Given the description of an element on the screen output the (x, y) to click on. 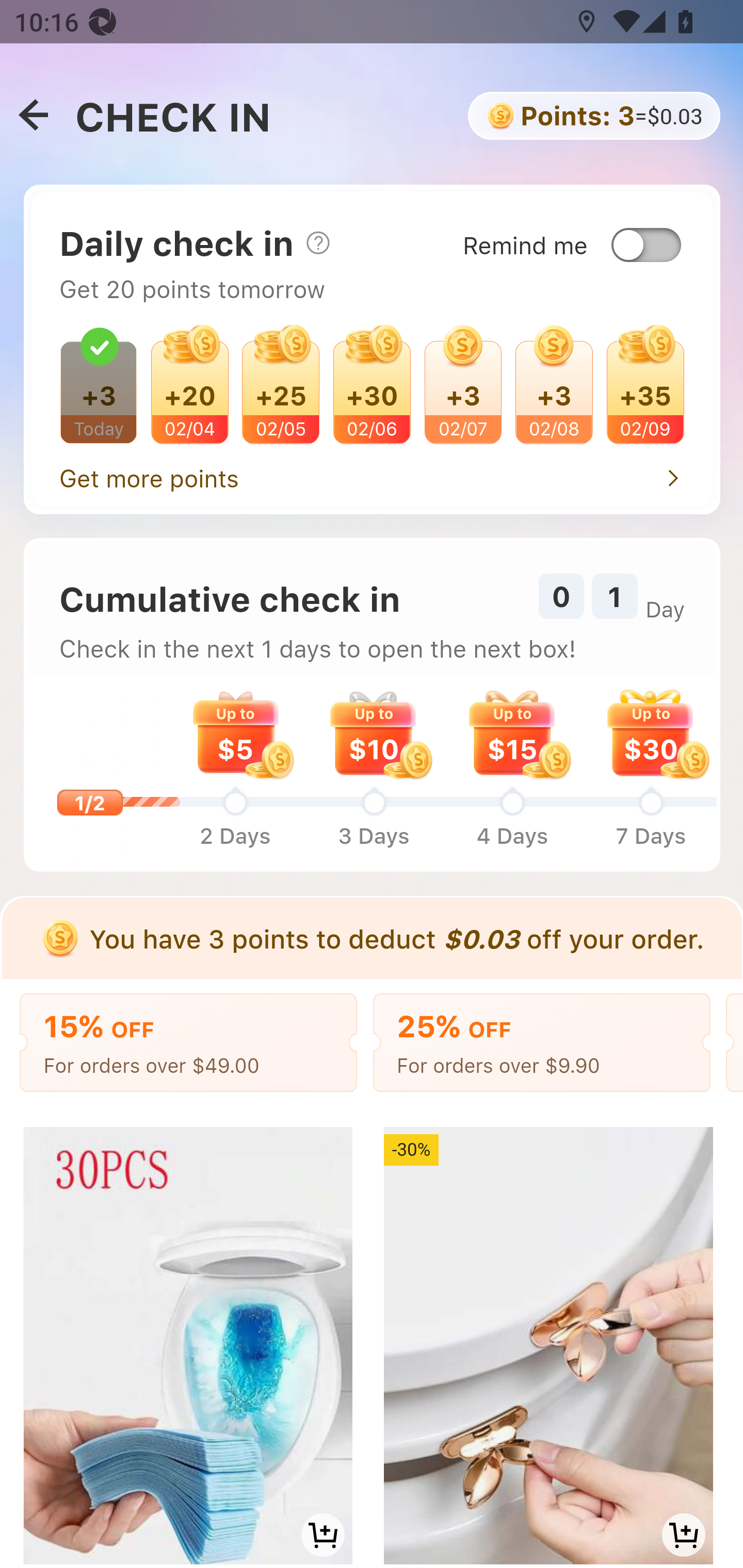
 (33, 115)
Points: 3=$0.03 (592, 115)
Remind me (587, 228)
 (317, 242)
+3 Today (98, 390)
+20 02/04 (188, 390)
+25 02/05 (281, 390)
+30 02/06 (371, 390)
+3 02/07 (462, 390)
+3 02/08 (553, 390)
+35 02/09 (644, 390)
Get more points  (371, 473)
Up to $5 2 Days (234, 771)
Up to $10 3 Days (373, 771)
Up to $15 4 Days (512, 771)
Up to $30 7 Days (650, 771)
Up to $5 (235, 731)
Up to $10 (373, 731)
Up to $15 (511, 731)
Up to $30 (650, 731)
